Given the description of an element on the screen output the (x, y) to click on. 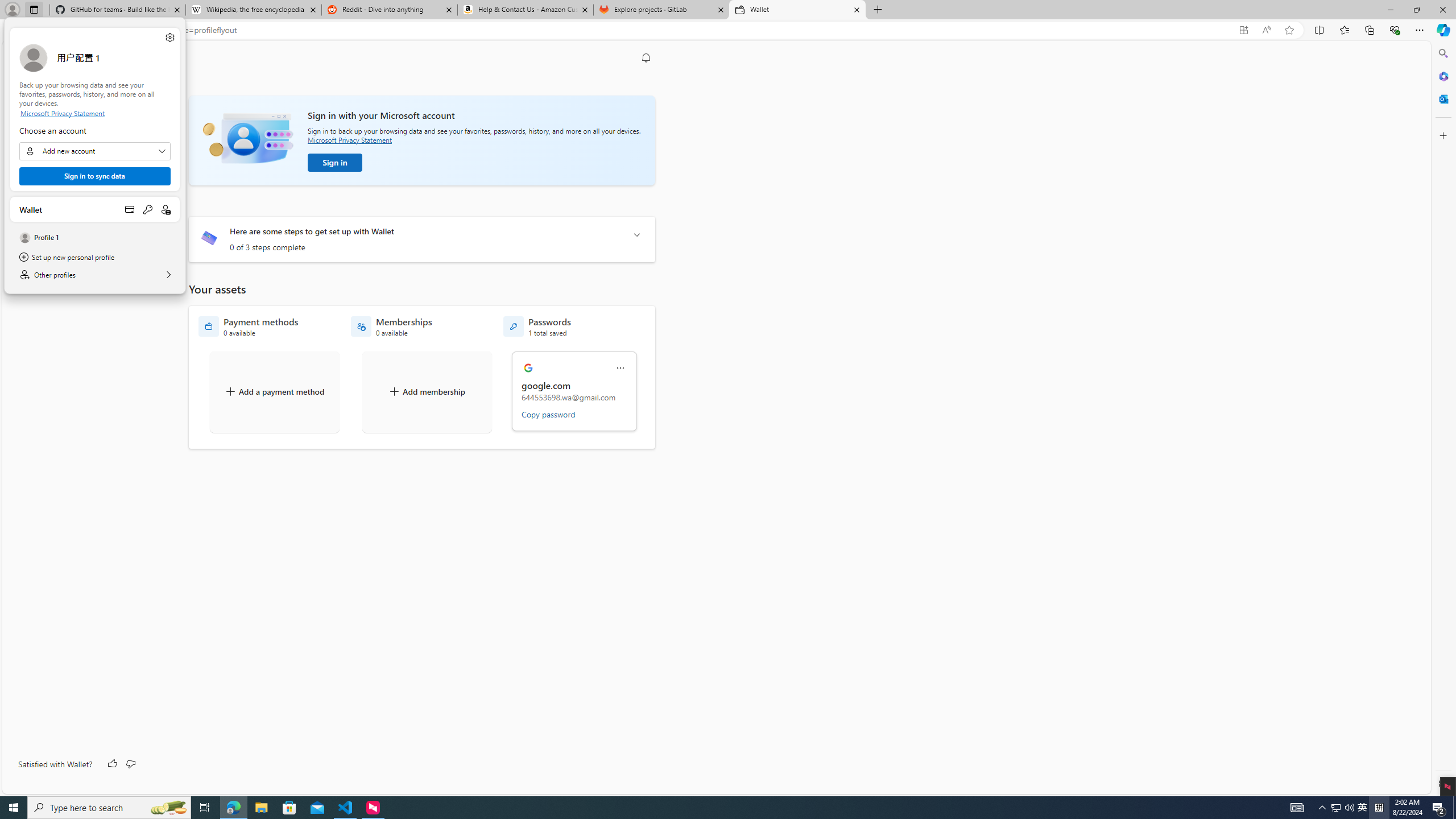
Open passwords (147, 208)
Reddit - Dive into anything (390, 9)
Start (1362, 807)
Passwords - 1 total saved (13, 807)
Other profiles (537, 326)
